Given the description of an element on the screen output the (x, y) to click on. 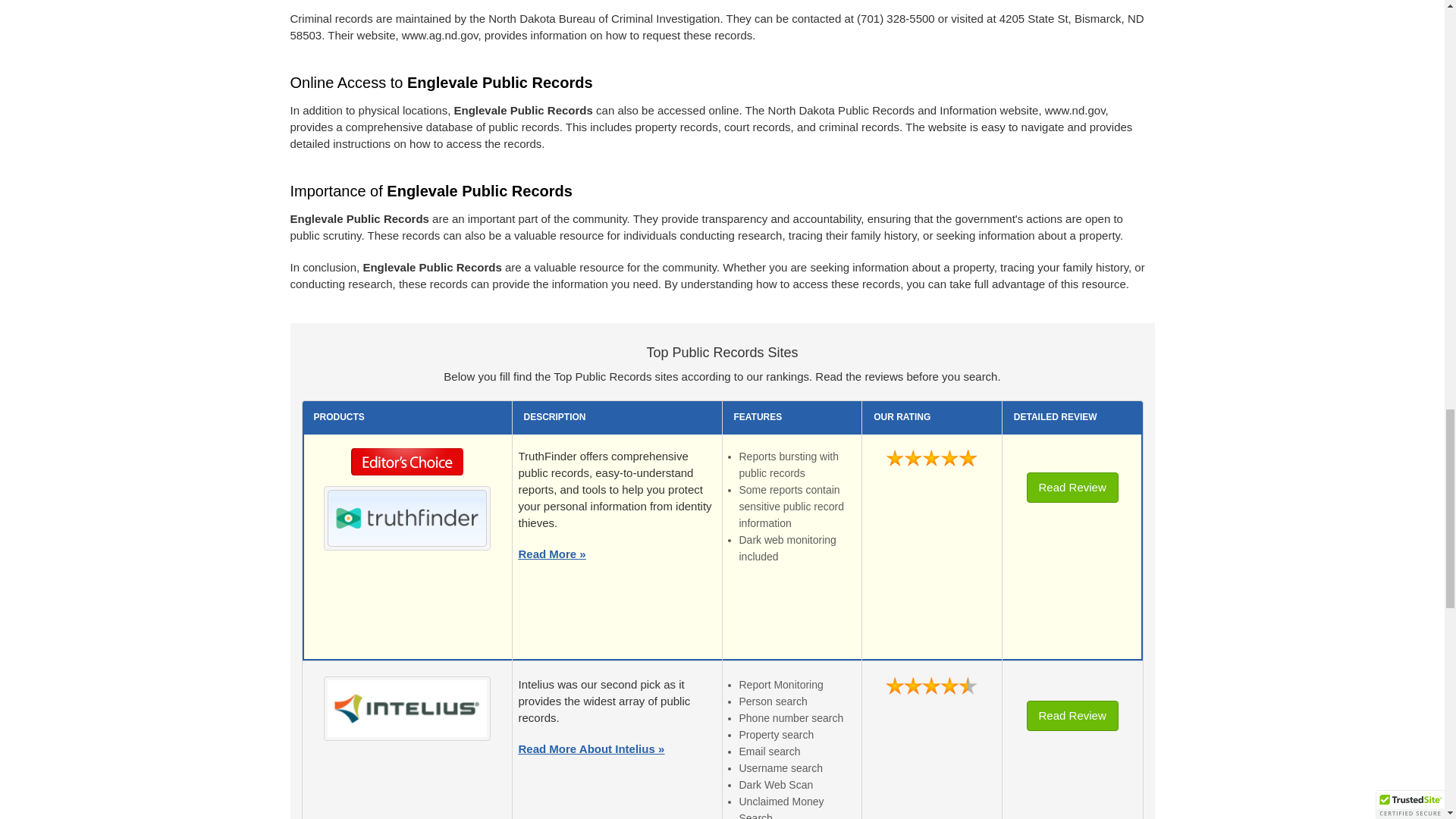
Intelius (406, 708)
TruthFinder (406, 517)
Editors Choice (407, 465)
